Given the description of an element on the screen output the (x, y) to click on. 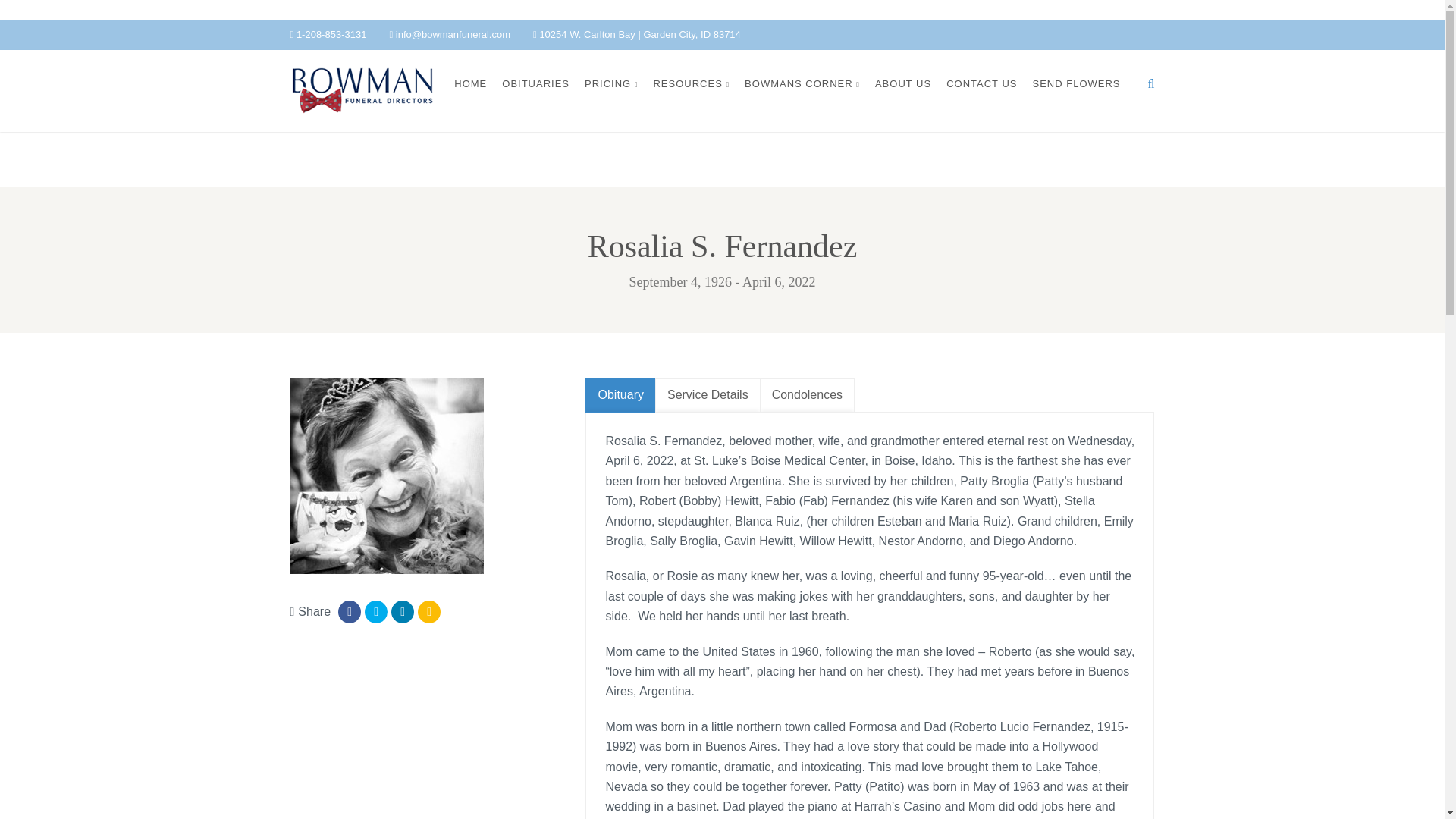
Tweet (376, 611)
CONTACT US (981, 83)
Obituary (620, 395)
SEND FLOWERS (1075, 83)
Service Details (707, 395)
RESOURCES (690, 83)
Share on Linkedin (402, 611)
Condolences (807, 395)
BOWMANS CORNER (802, 83)
OBITUARIES (535, 83)
